Given the description of an element on the screen output the (x, y) to click on. 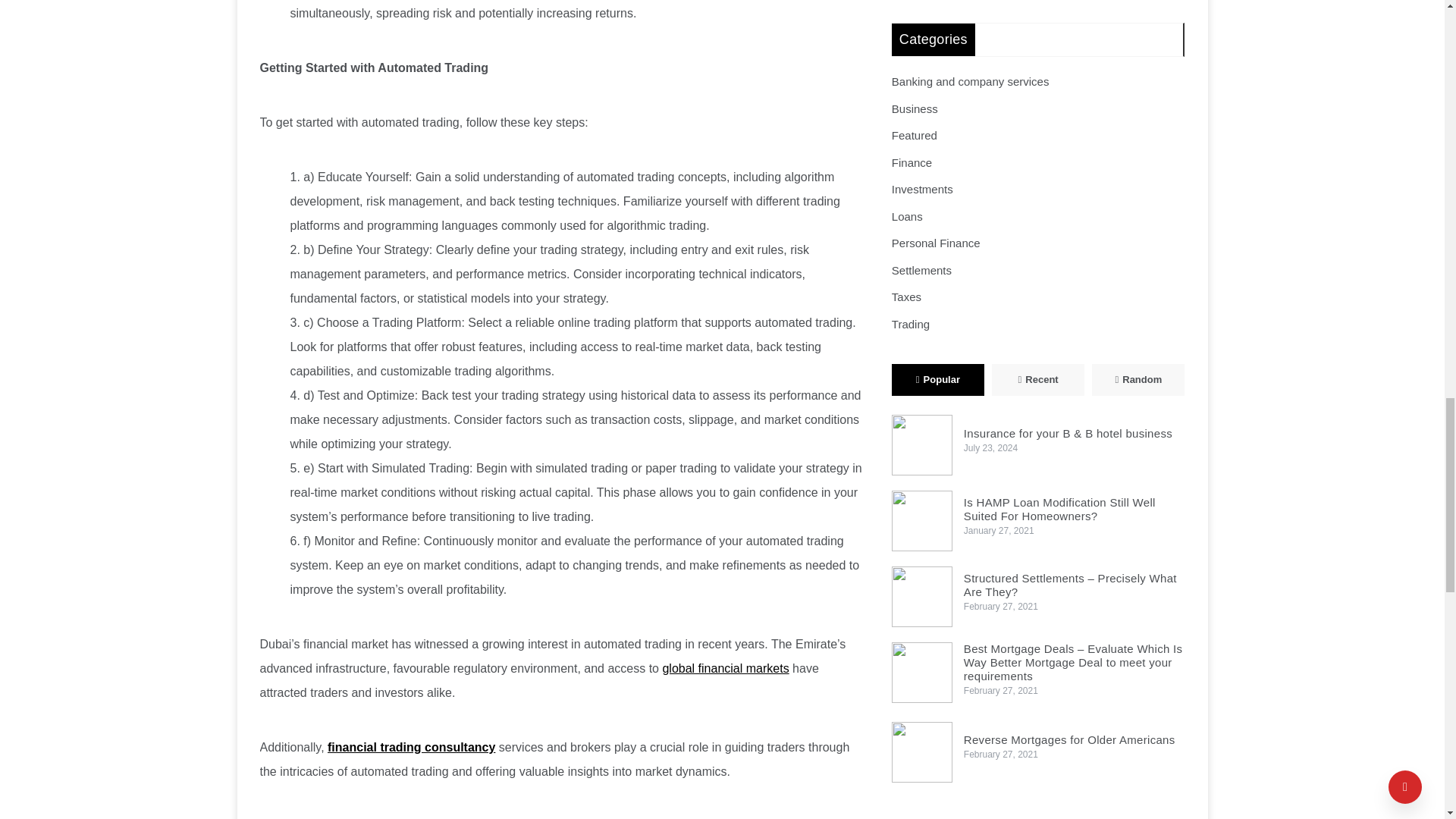
financial trading consultancy (411, 747)
global financial markets (725, 667)
